Given the description of an element on the screen output the (x, y) to click on. 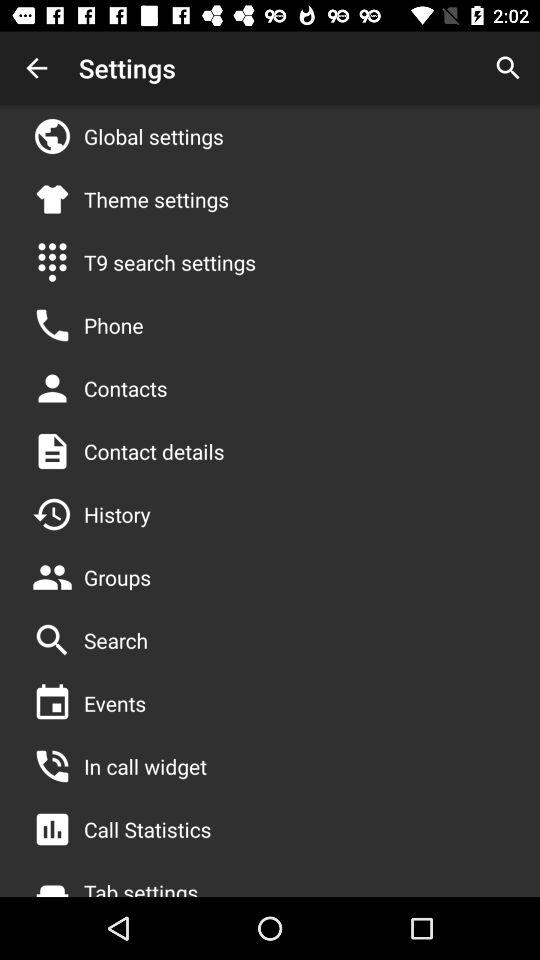
choose call statistics item (147, 829)
